Given the description of an element on the screen output the (x, y) to click on. 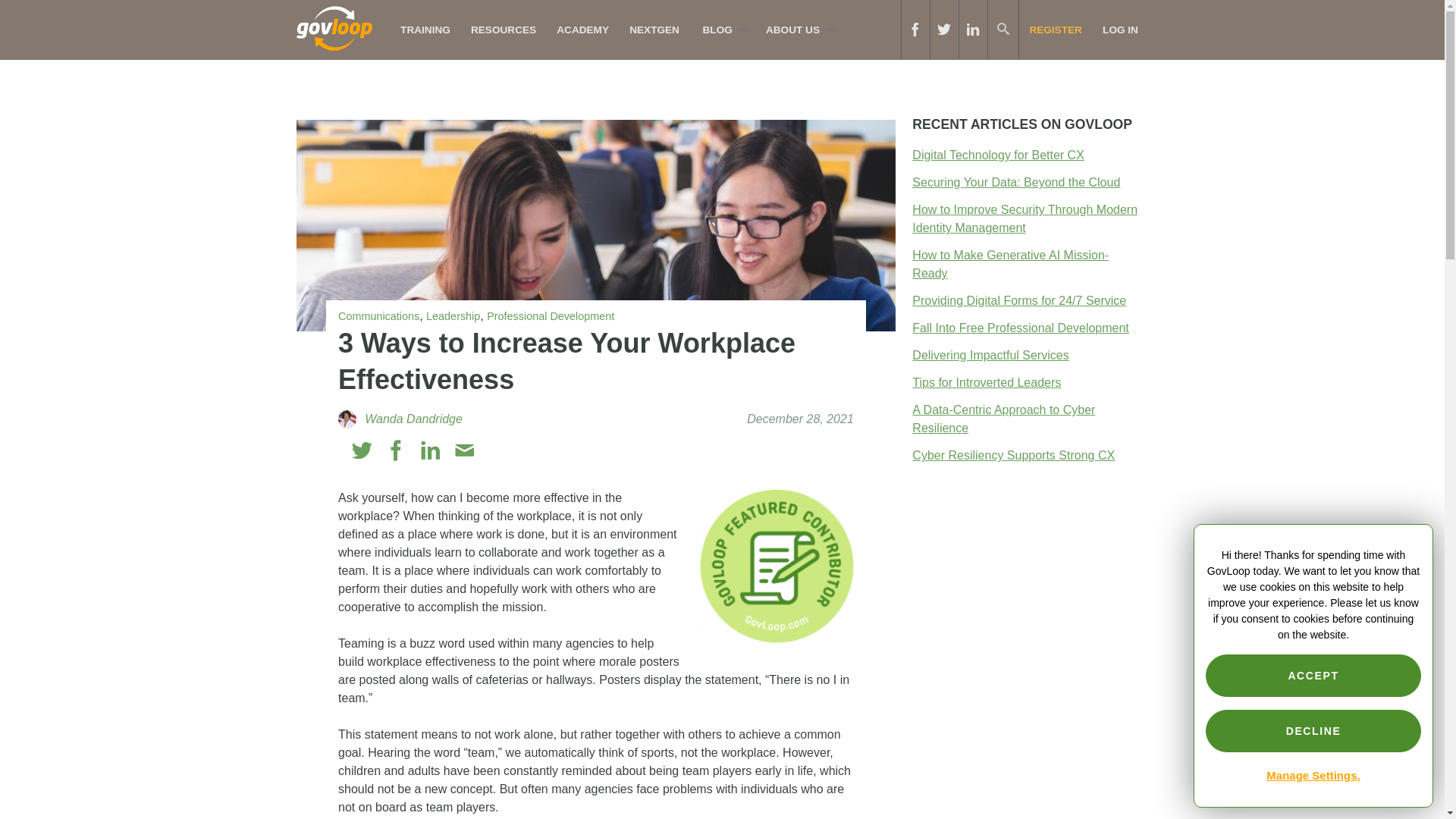
Twitter (362, 450)
Print (497, 450)
LOG IN (1120, 29)
Facebook (395, 450)
RESOURCES (503, 29)
ACADEMY (583, 29)
NEXTGEN (655, 29)
TRAINING (425, 29)
Communications (378, 316)
Email (464, 450)
